Given the description of an element on the screen output the (x, y) to click on. 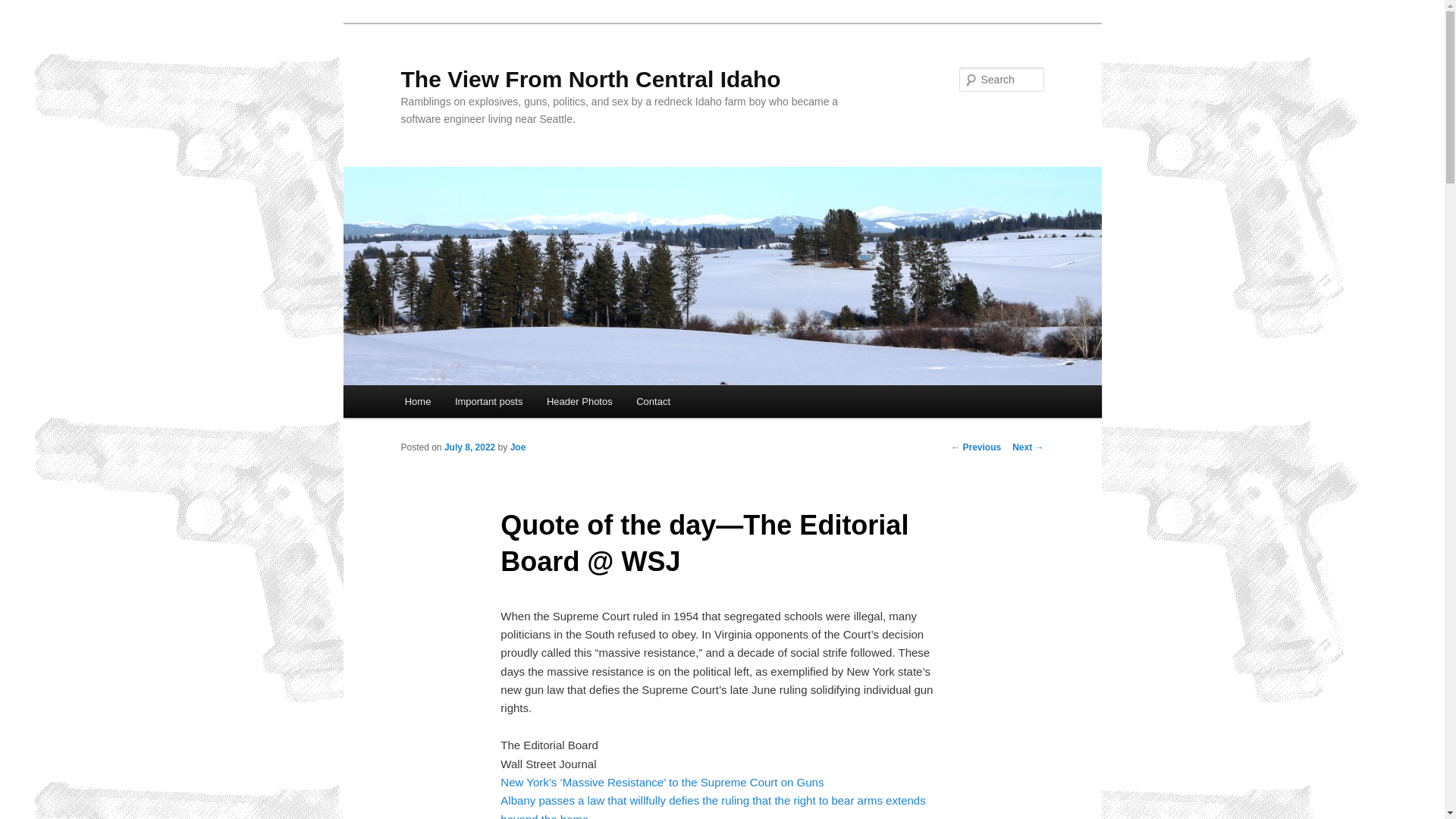
Important posts (488, 400)
Home (417, 400)
The View From North Central Idaho (590, 78)
View all posts by Joe (518, 447)
July 8, 2022 (469, 447)
Contact (652, 400)
6:00 am (469, 447)
Header Photos (579, 400)
Search (24, 8)
Joe (518, 447)
